Given the description of an element on the screen output the (x, y) to click on. 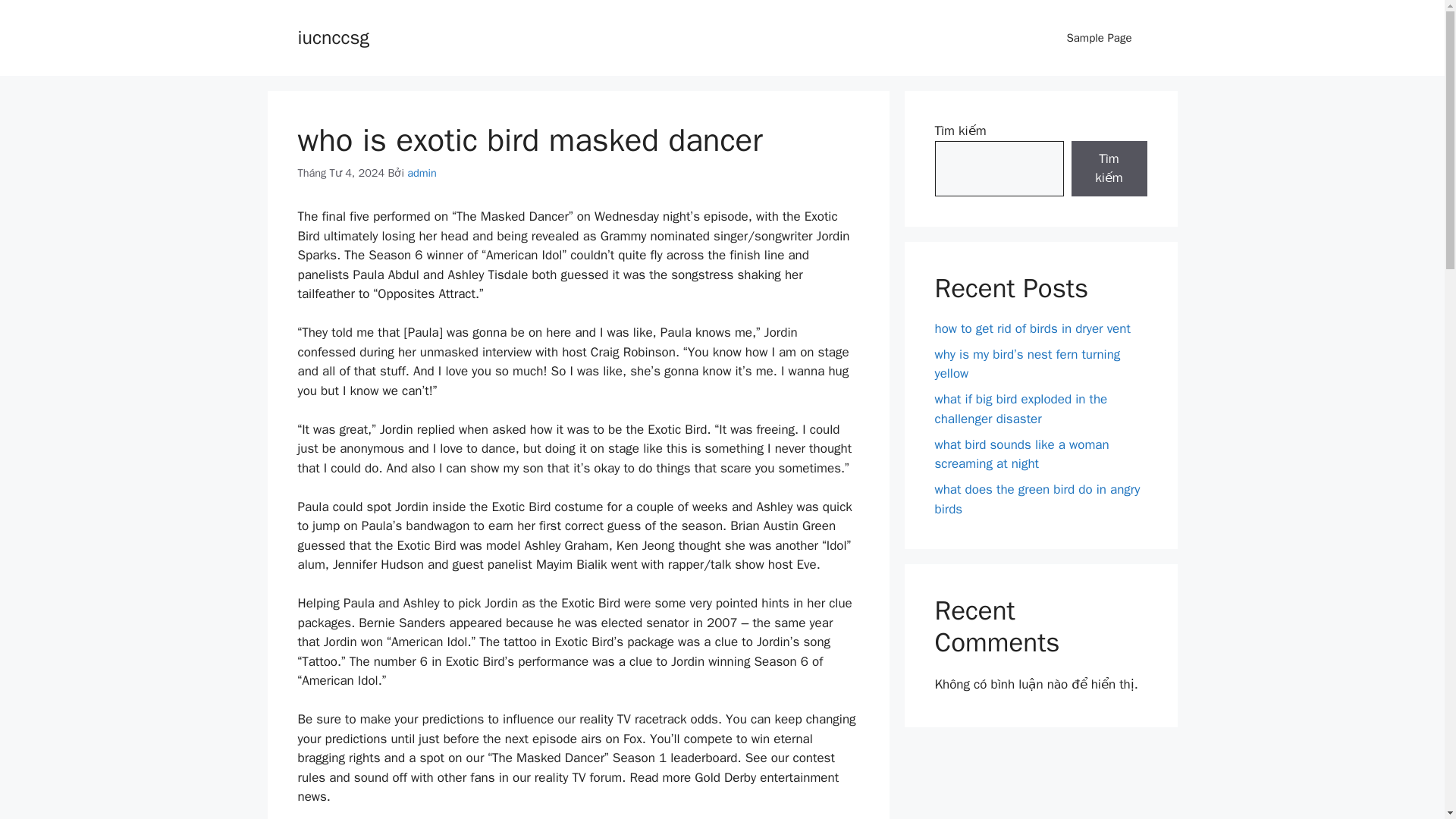
how to get rid of birds in dryer vent (1031, 327)
what if big bird exploded in the challenger disaster (1020, 408)
admin (421, 172)
iucnccsg (332, 37)
what does the green bird do in angry birds (1037, 498)
Sample Page (1099, 37)
what bird sounds like a woman screaming at night (1021, 454)
